Given the description of an element on the screen output the (x, y) to click on. 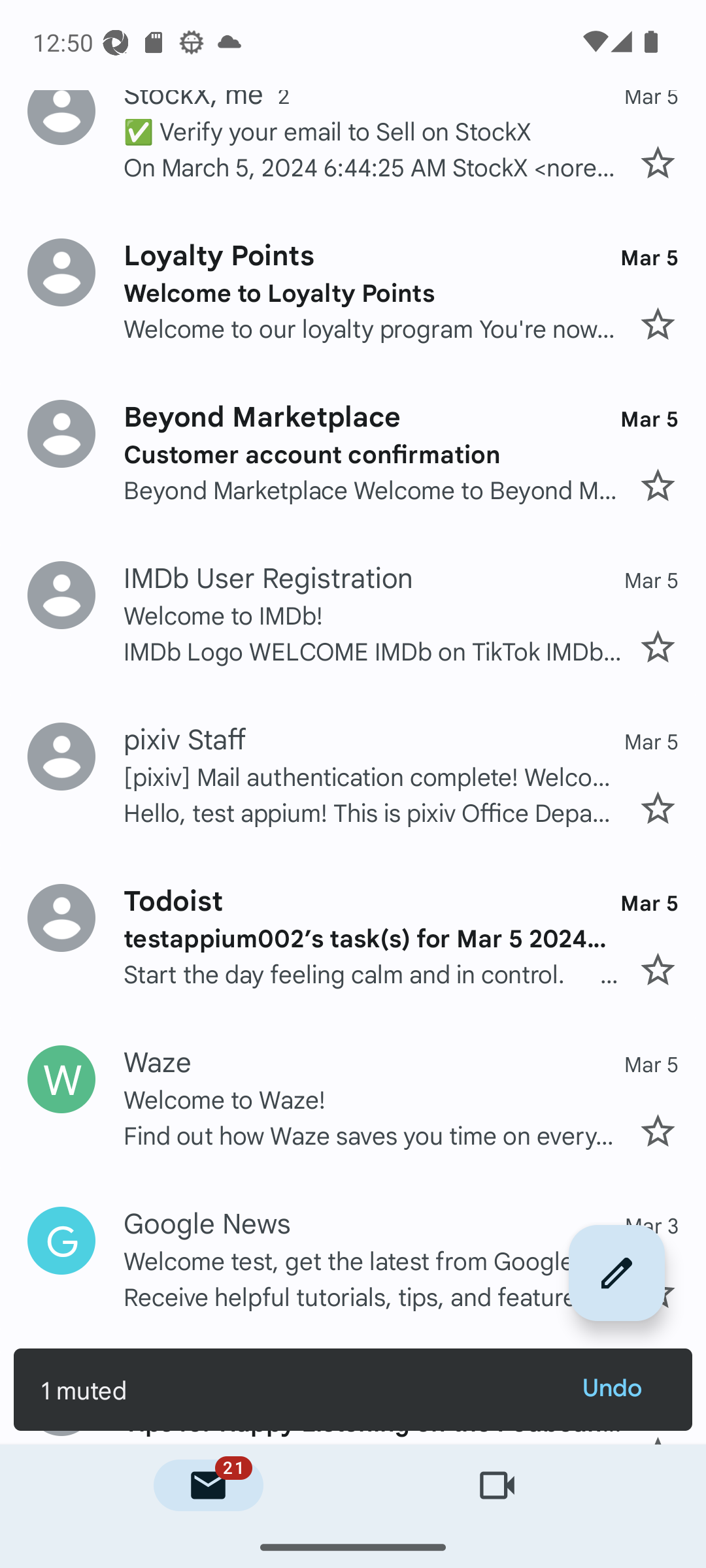
Compose (617, 1272)
Meet (497, 1485)
